Given the description of an element on the screen output the (x, y) to click on. 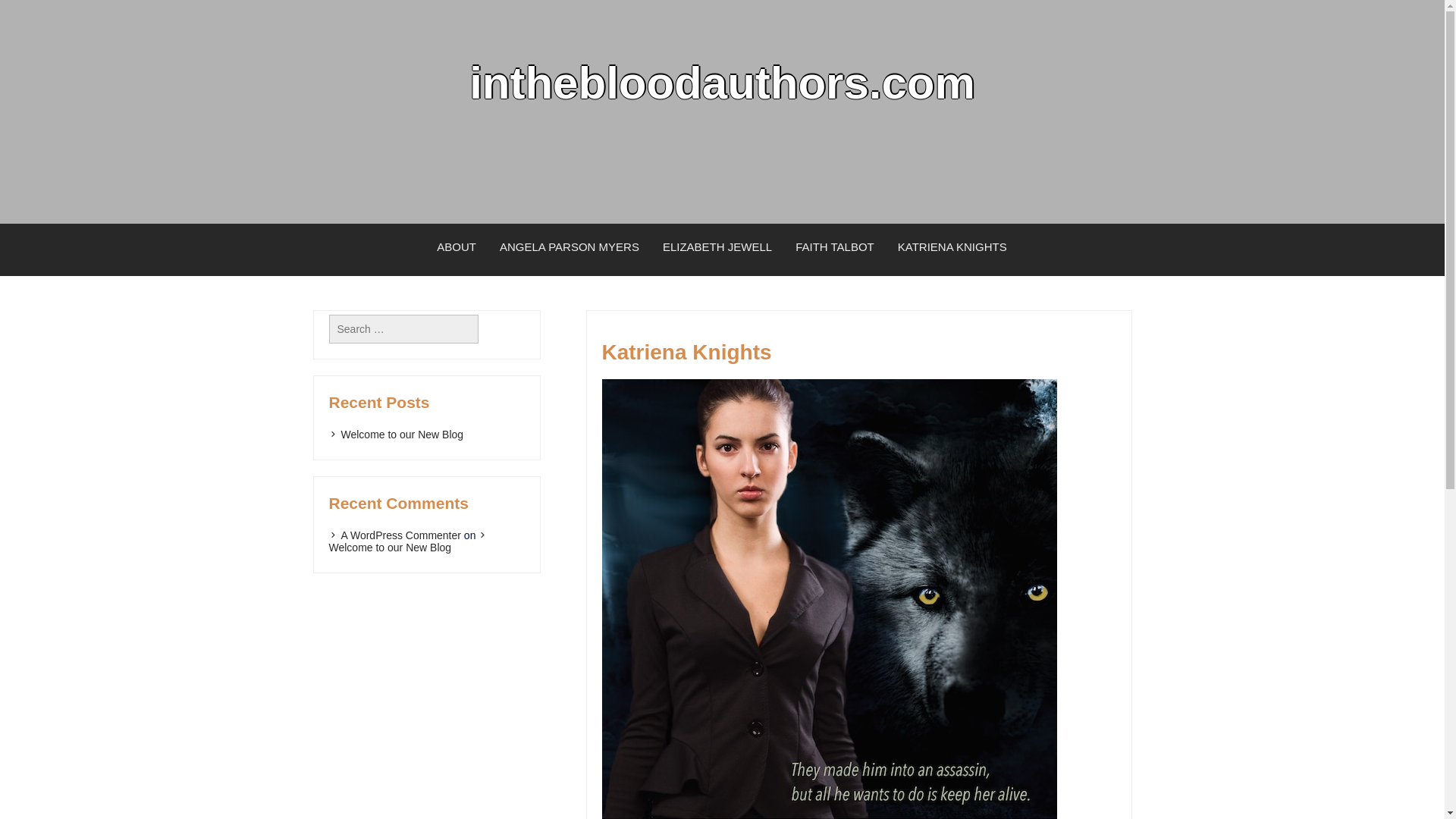
A WordPress Commenter (395, 535)
Welcome to our New Blog (410, 541)
ANGELA PARSON MYERS (568, 247)
Welcome to our New Blog (396, 434)
ABOUT (456, 247)
FAITH TALBOT (835, 247)
Search (31, 15)
inthebloodauthors.com (721, 82)
ELIZABETH JEWELL (717, 247)
KATRIENA KNIGHTS (952, 247)
